Given the description of an element on the screen output the (x, y) to click on. 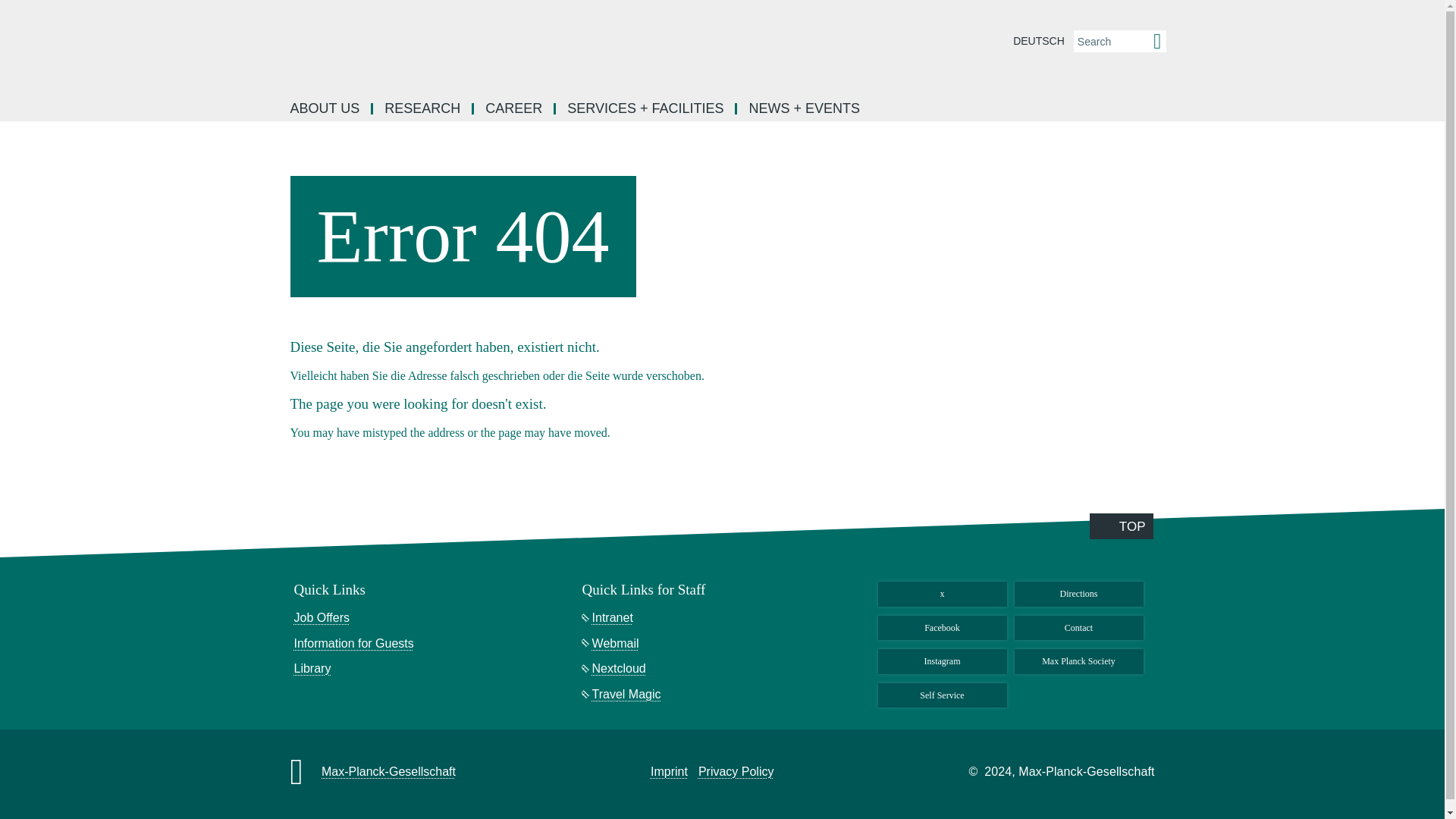
RESEARCH (423, 108)
ABOUT US (326, 108)
DEUTSCH (1038, 41)
